Given the description of an element on the screen output the (x, y) to click on. 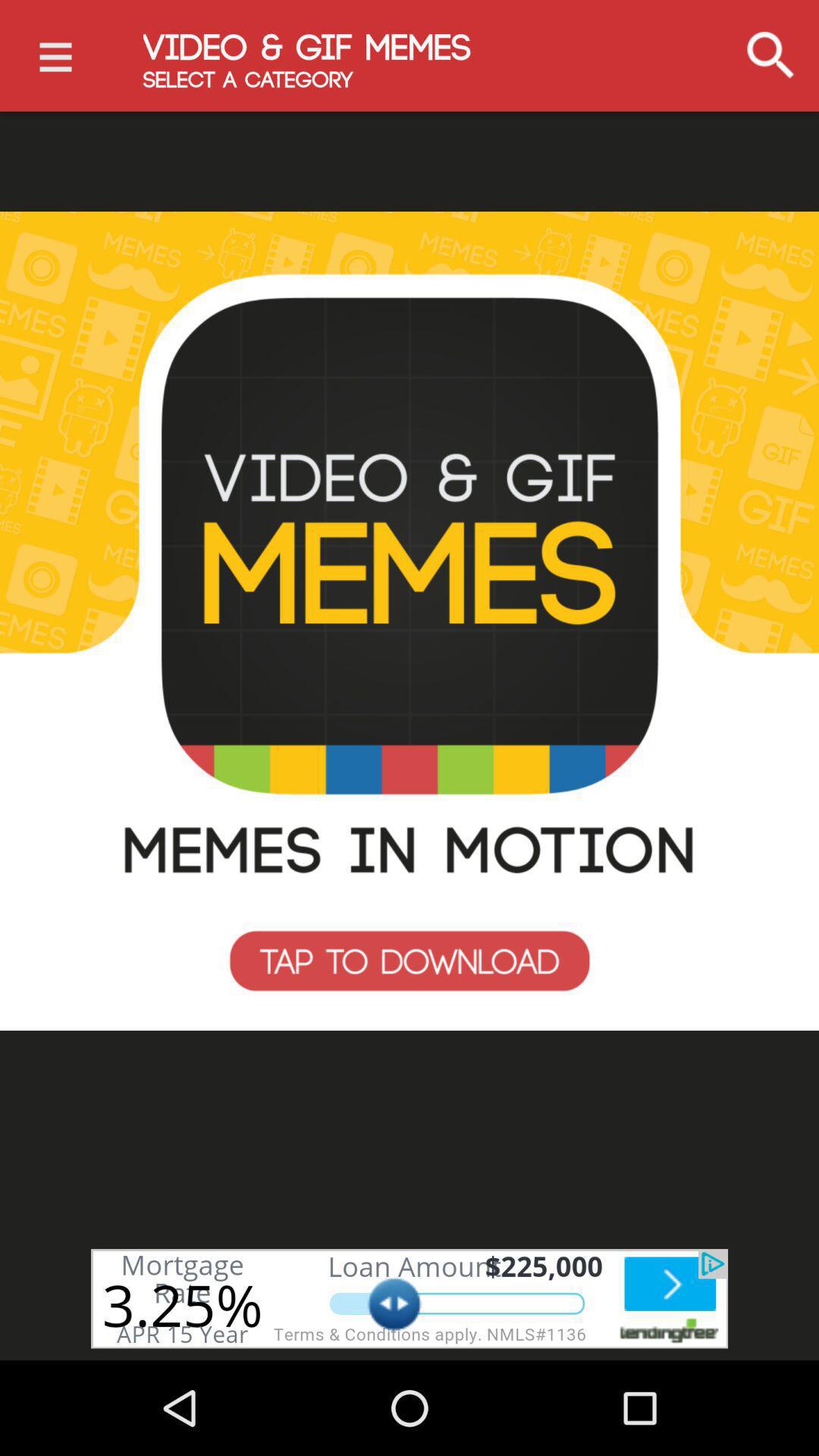
download (409, 620)
